Given the description of an element on the screen output the (x, y) to click on. 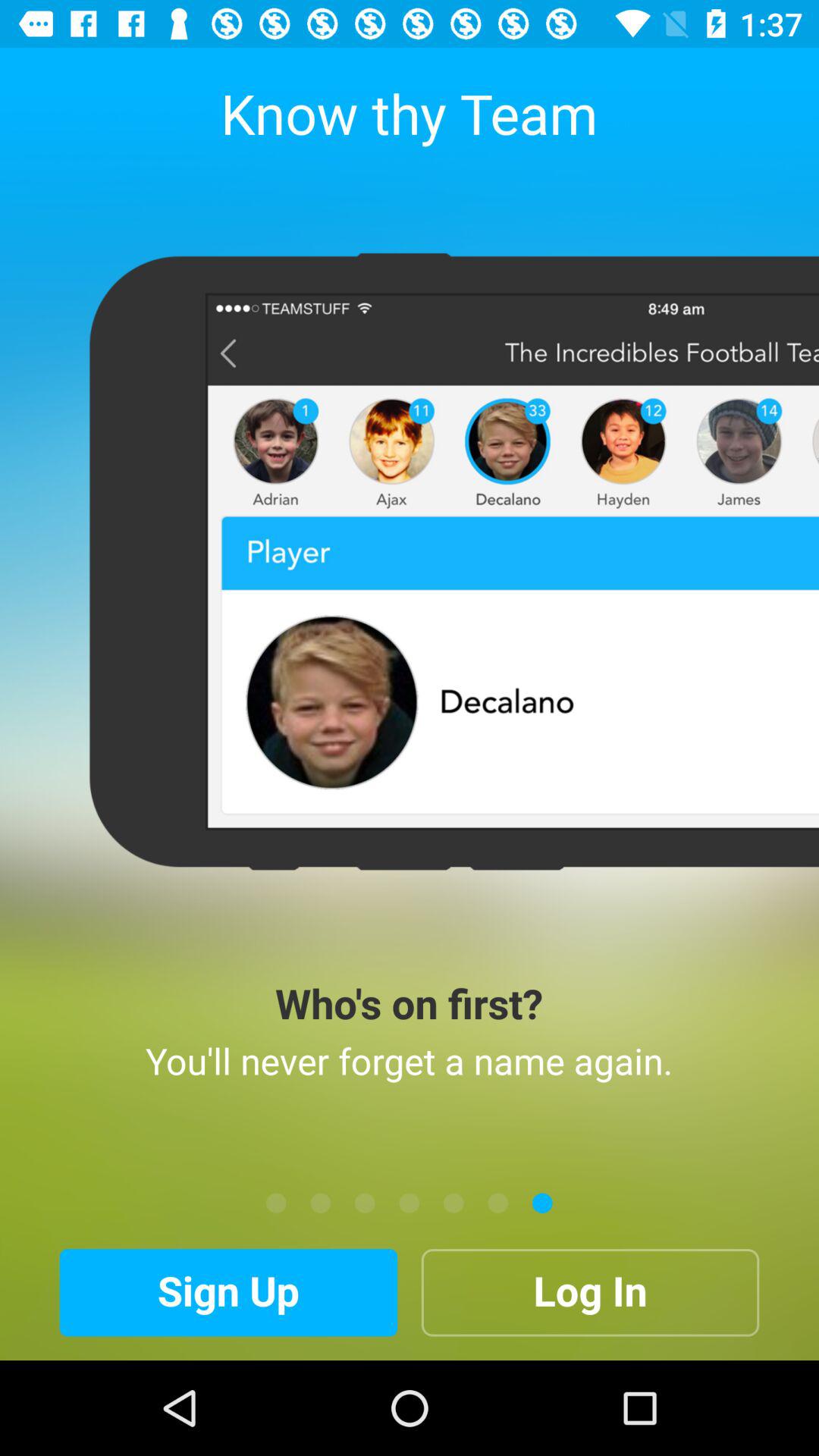
scroll to next page (498, 1203)
